Given the description of an element on the screen output the (x, y) to click on. 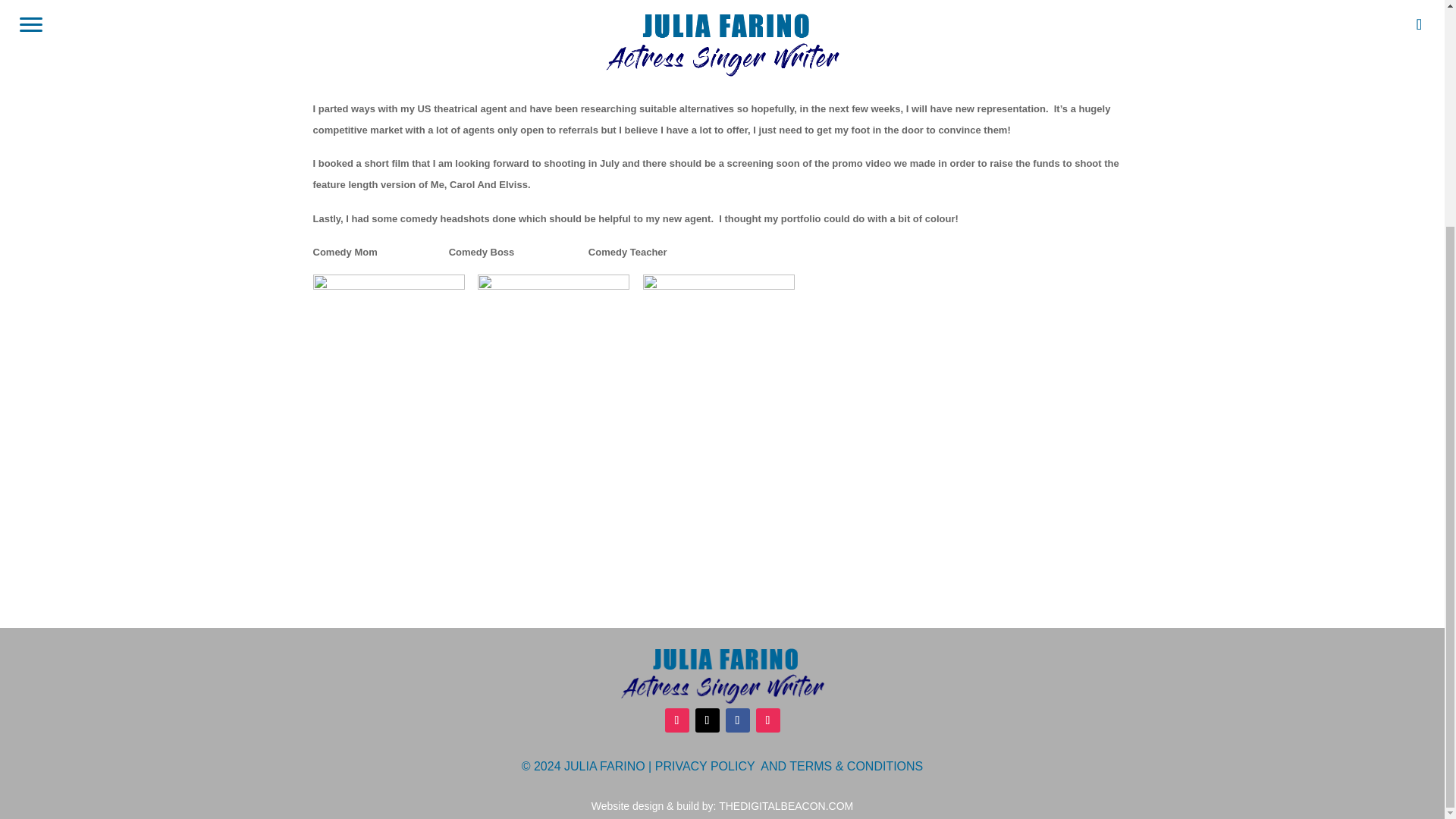
PRIVACY POLICY (705, 766)
Follow on X (706, 720)
Follow on Instagram (766, 720)
Follow on Instagram (675, 720)
THEDIGITALBEACON.COM (786, 806)
Artboard 1 (722, 676)
Follow on Facebook (737, 720)
